Given the description of an element on the screen output the (x, y) to click on. 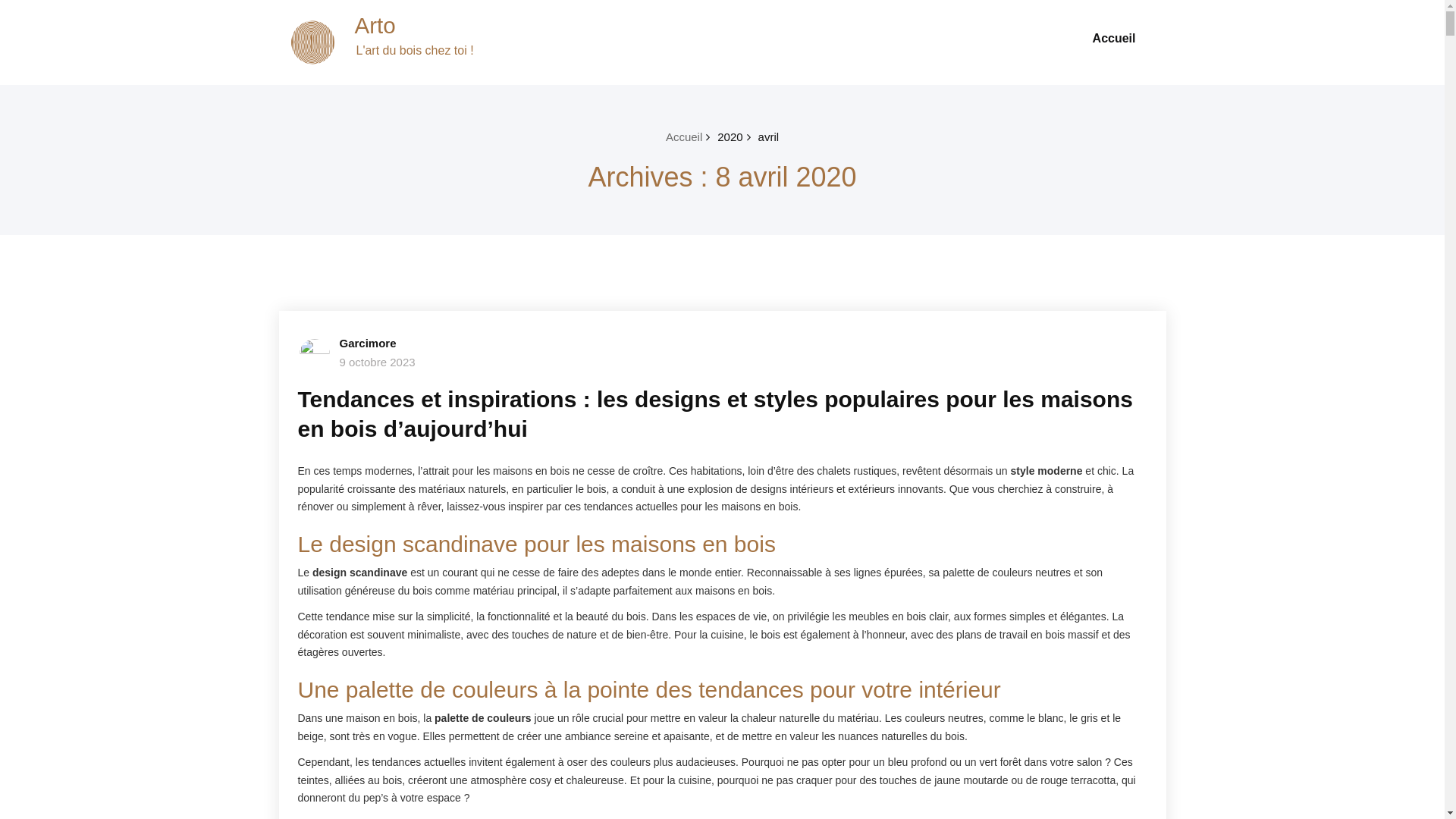
2020 Element type: text (729, 136)
Arto Element type: text (374, 24)
avril Element type: text (768, 136)
Accueil Element type: text (1114, 38)
9 octobre 2023 Element type: text (377, 361)
Accueil Element type: text (683, 136)
Garcimore Element type: text (367, 342)
